Given the description of an element on the screen output the (x, y) to click on. 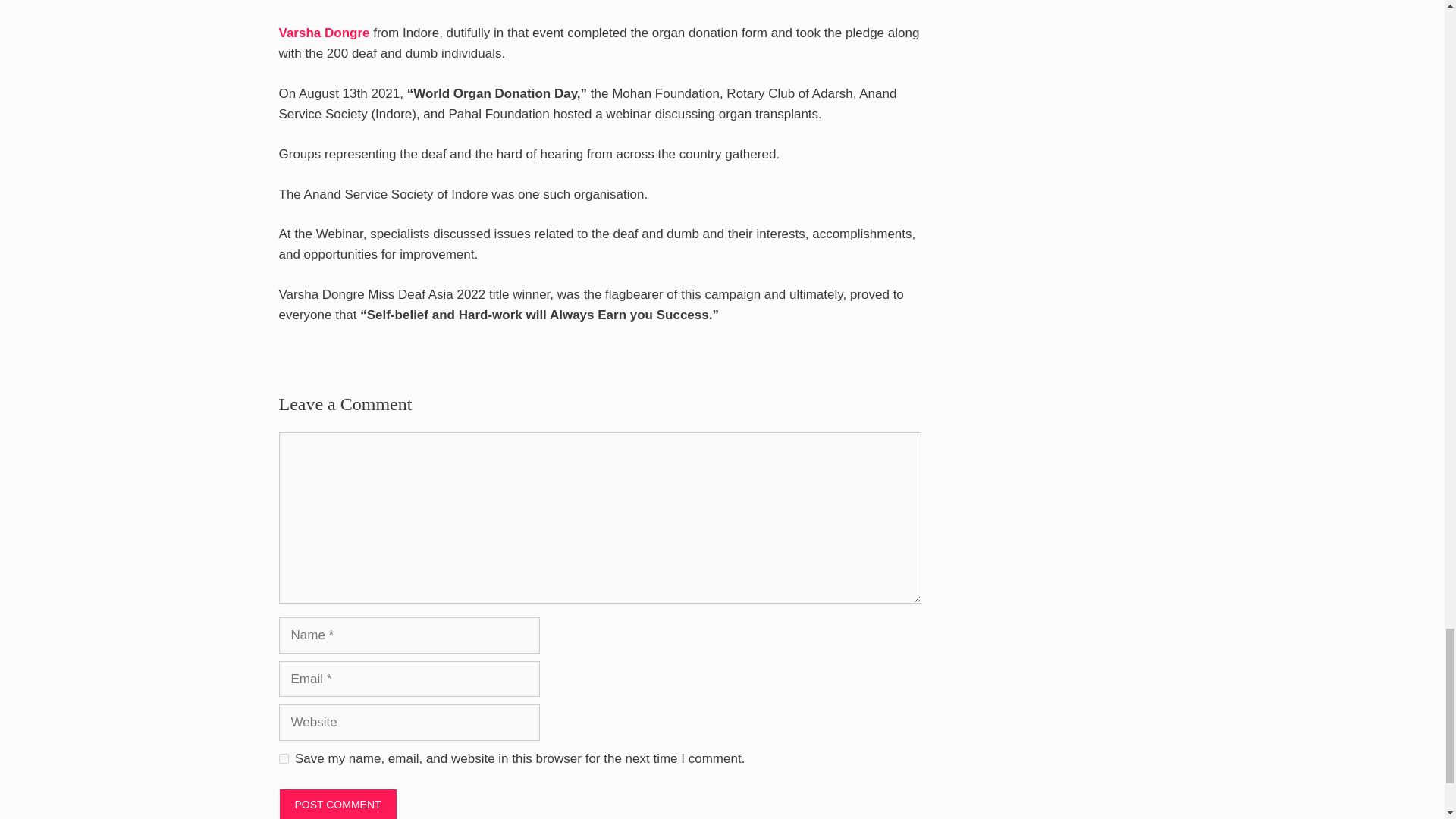
yes (283, 758)
Varsha Dongre (324, 32)
Post Comment (338, 803)
Post Comment (338, 803)
